Given the description of an element on the screen output the (x, y) to click on. 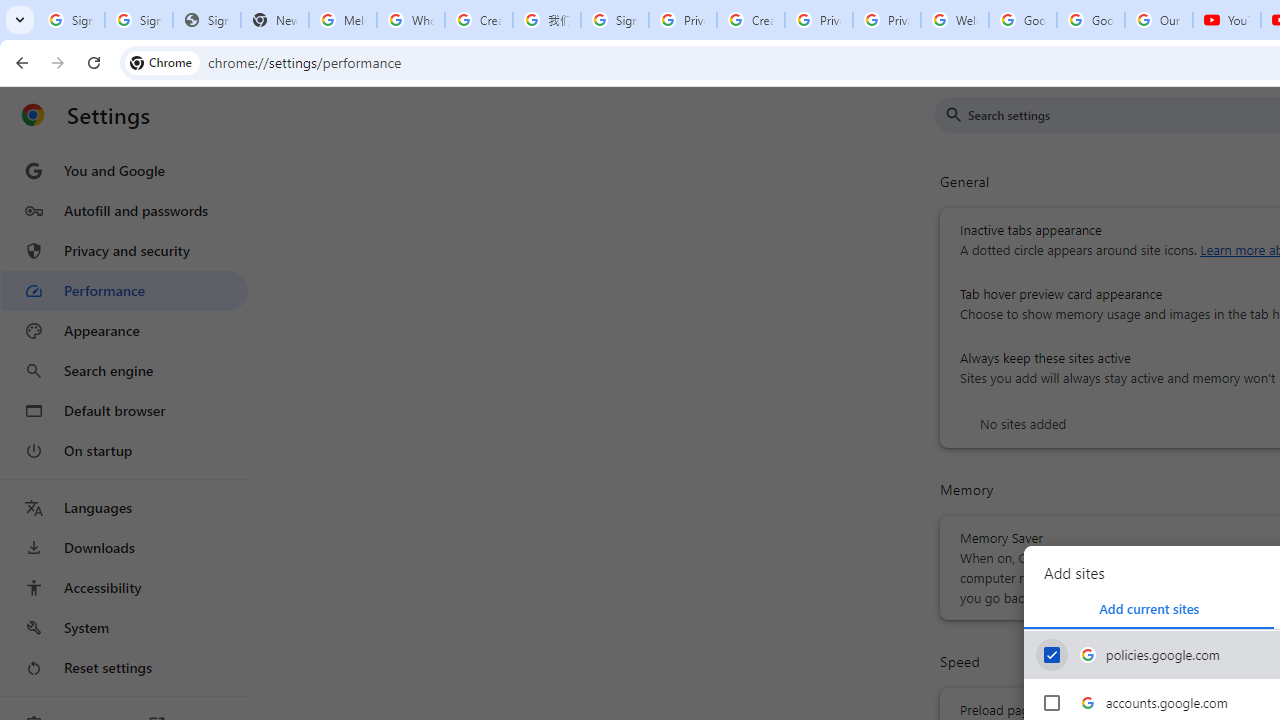
Who is my administrator? - Google Account Help (411, 20)
YouTube (1226, 20)
Welcome to My Activity (954, 20)
Sign in - Google Accounts (614, 20)
Sign in - Google Accounts (138, 20)
